Given the description of an element on the screen output the (x, y) to click on. 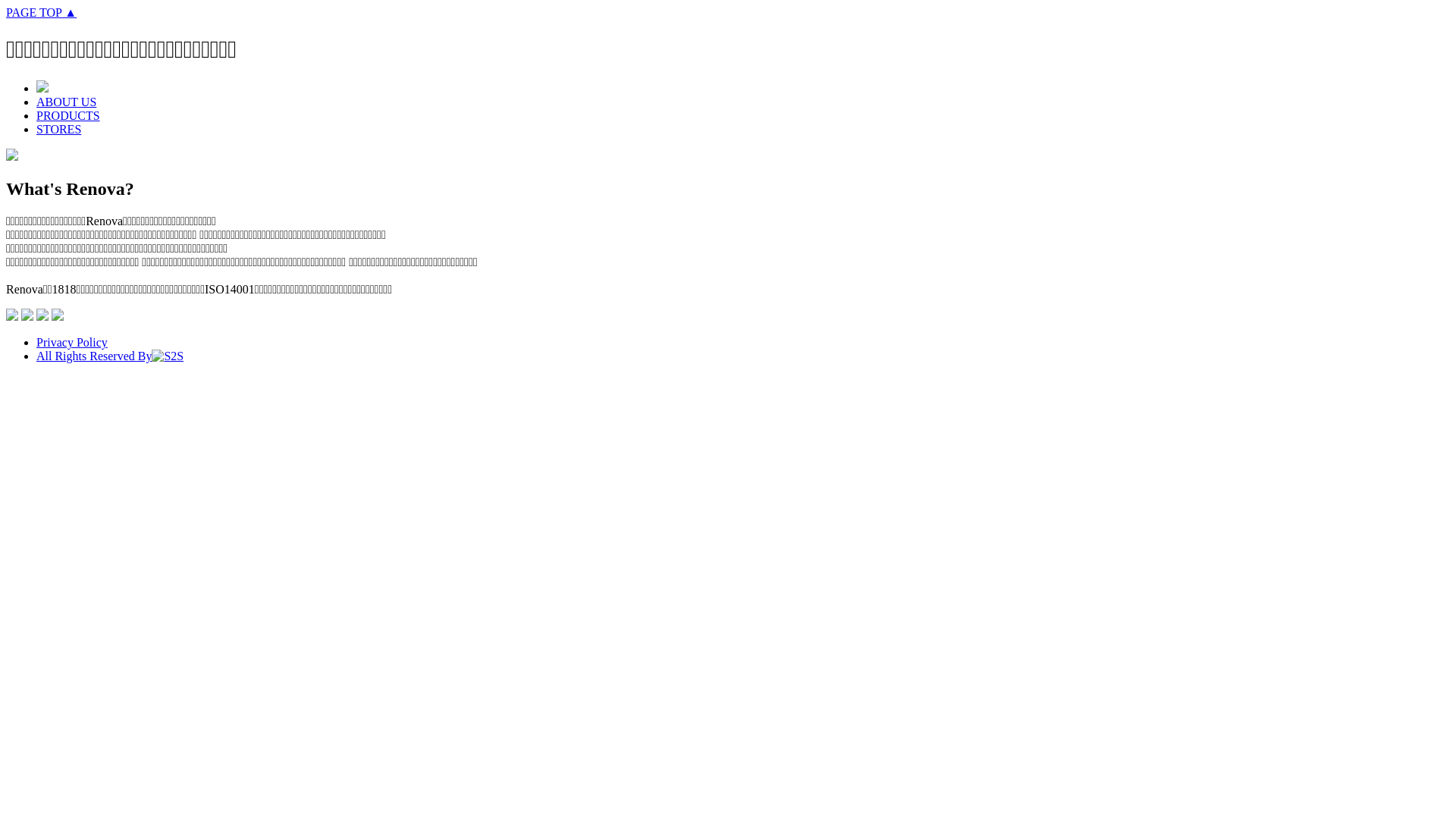
ABOUT US Element type: text (66, 101)
Privacy Policy Element type: text (71, 341)
All Rights Reserved By Element type: text (109, 355)
PRODUCTS Element type: text (68, 115)
STORES Element type: text (58, 128)
